Given the description of an element on the screen output the (x, y) to click on. 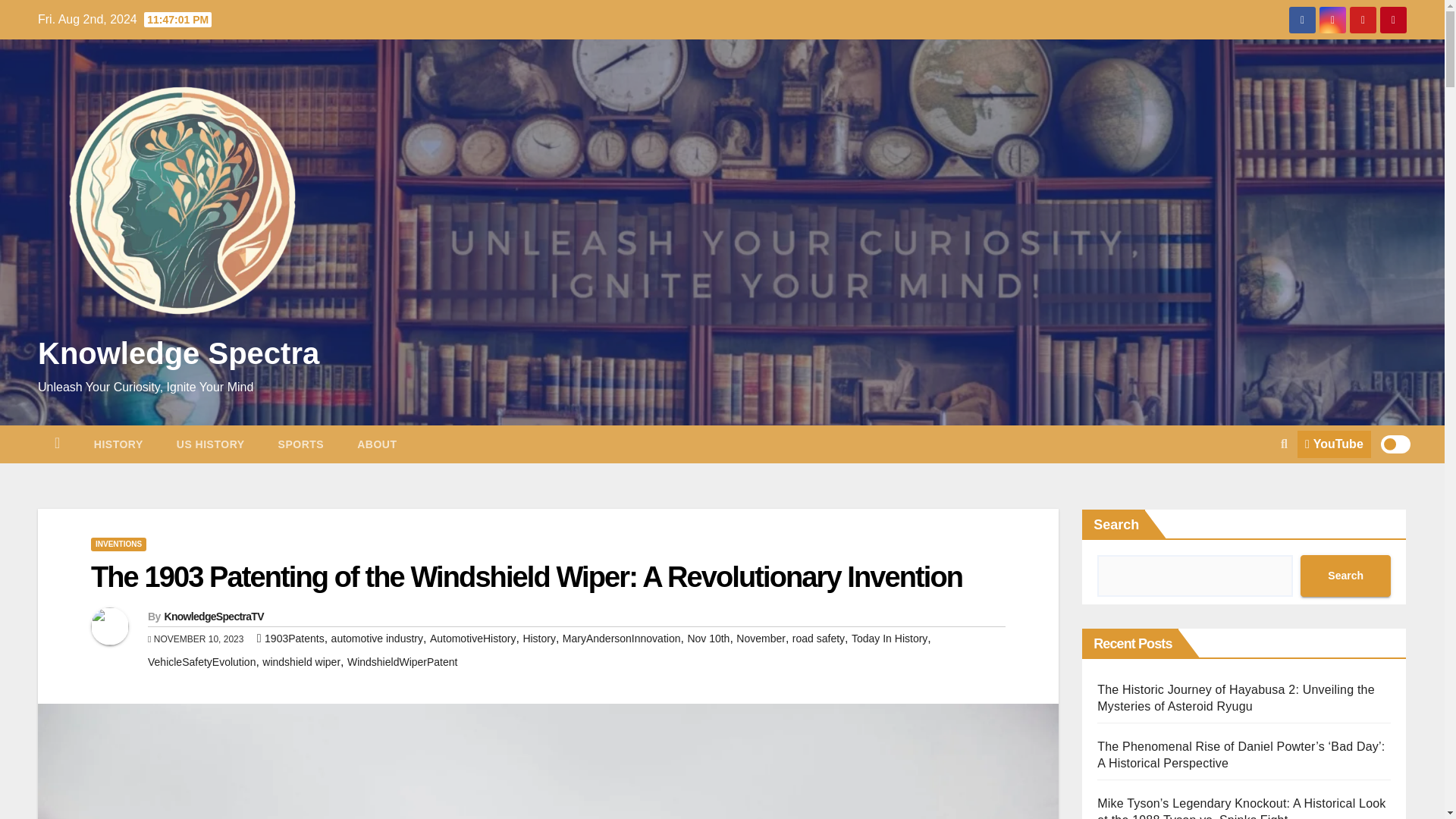
Nov 10th (708, 638)
WindshieldWiperPatent (402, 662)
Home (57, 444)
History (118, 444)
Knowledge Spectra (177, 353)
Today In History (889, 638)
YouTube (1334, 443)
SPORTS (301, 444)
VehicleSafetyEvolution (202, 662)
History (539, 638)
1903Patents (294, 638)
AutomotiveHistory (472, 638)
US HISTORY (211, 444)
